Given the description of an element on the screen output the (x, y) to click on. 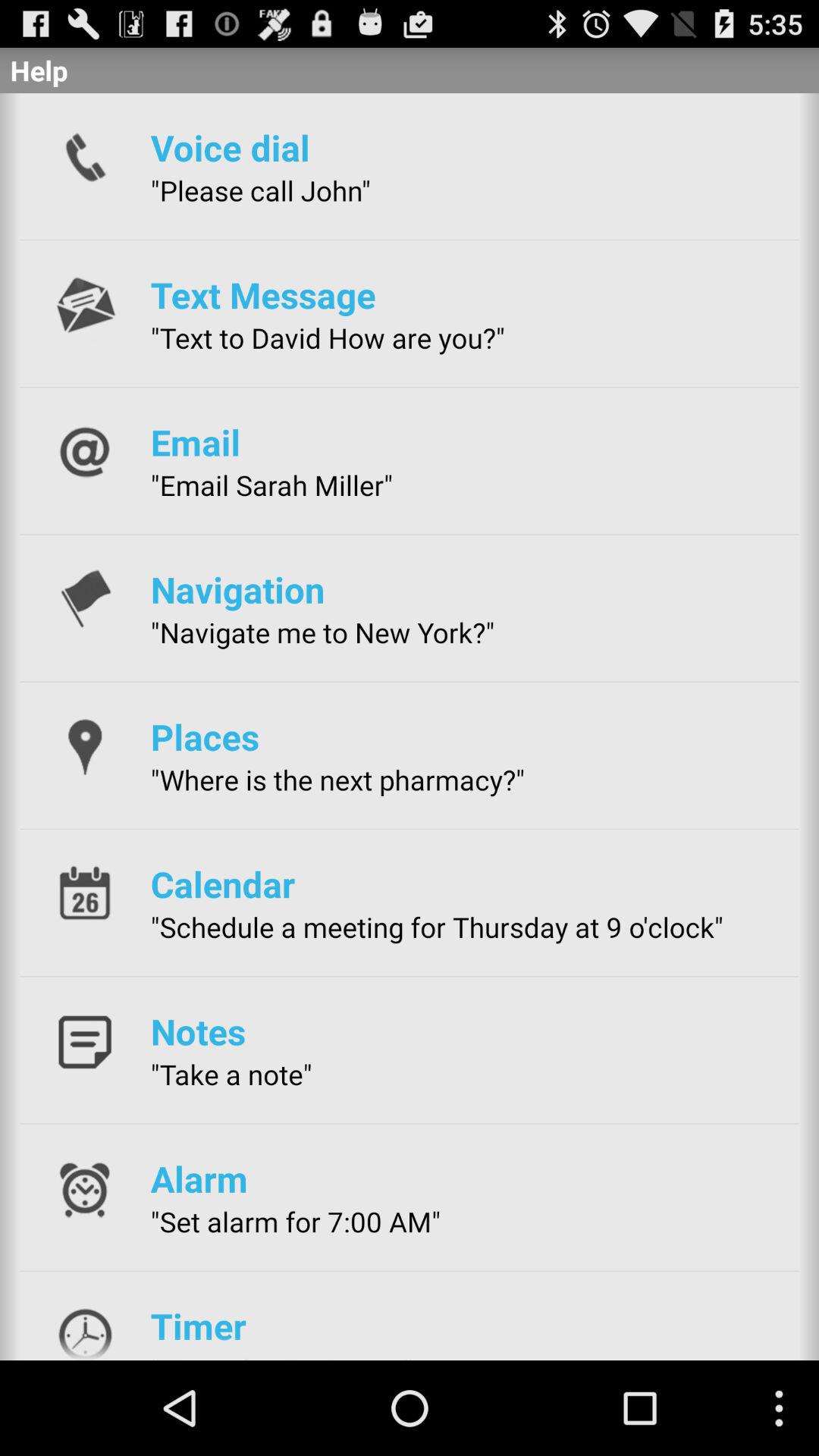
launch the item above the text message icon (260, 190)
